Given the description of an element on the screen output the (x, y) to click on. 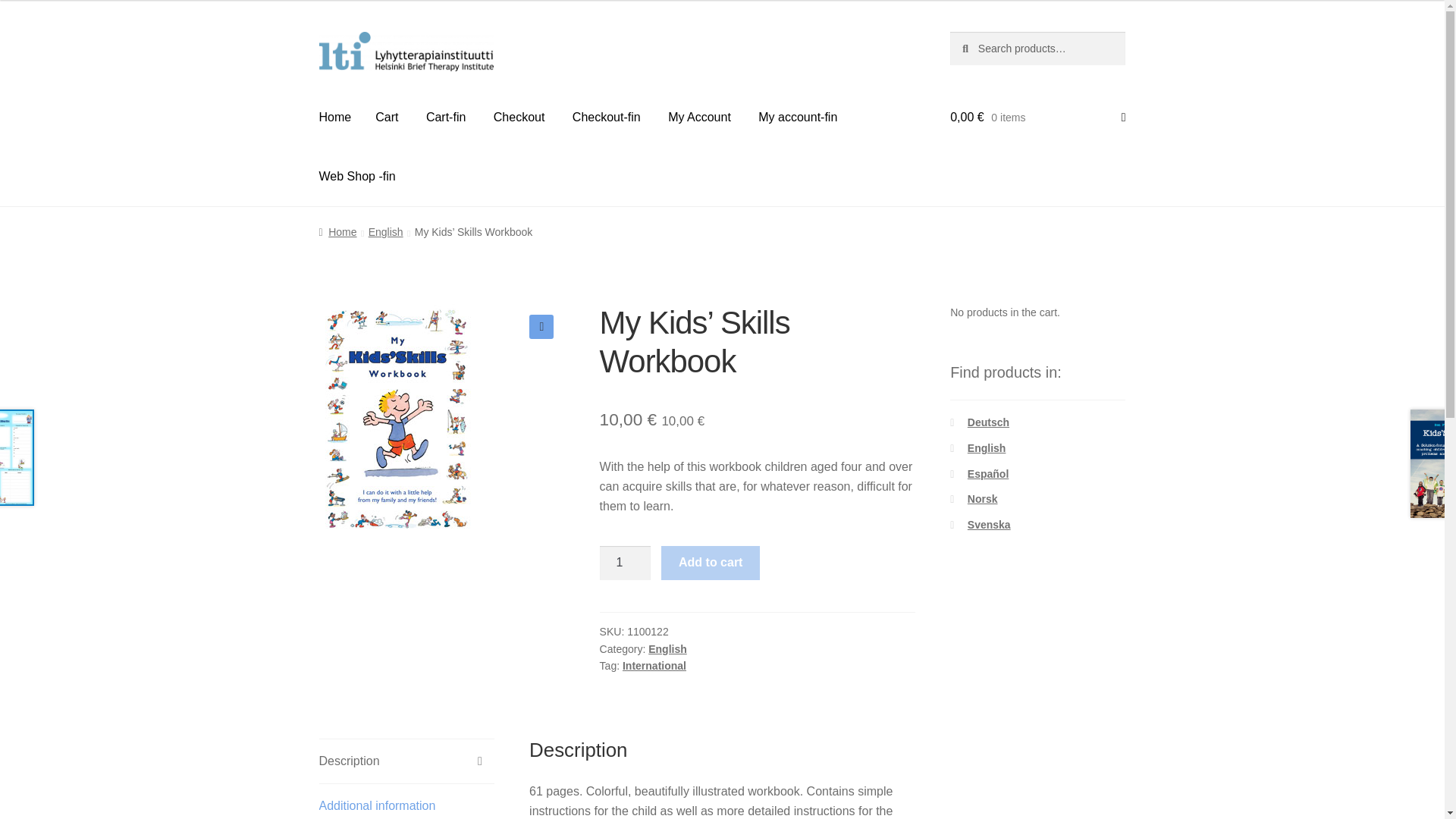
English (385, 232)
My Account (699, 117)
Home (335, 117)
Checkout-fin (606, 117)
My account-fin (796, 117)
1 (624, 563)
View your shopping cart (1037, 117)
English (667, 648)
Home (337, 232)
Cart-fin (445, 117)
Description (406, 760)
Checkout (519, 117)
Add to cart (710, 563)
Web Shop -fin (357, 176)
